Given the description of an element on the screen output the (x, y) to click on. 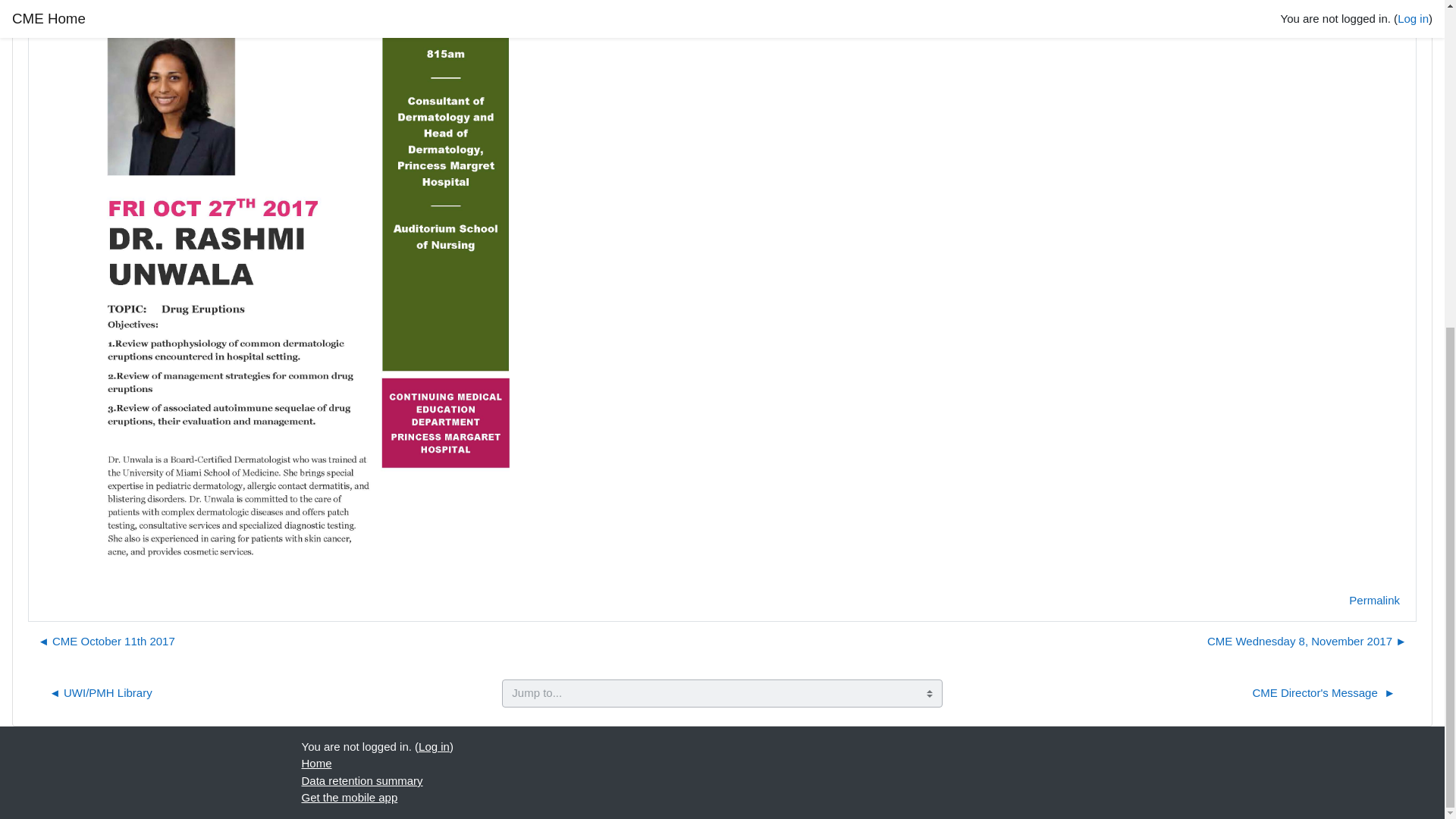
Data retention summary (362, 780)
Log in (434, 746)
Permalink (1374, 601)
Get the mobile app (349, 797)
Permanent link to this post (1374, 601)
Home (316, 762)
